Given the description of an element on the screen output the (x, y) to click on. 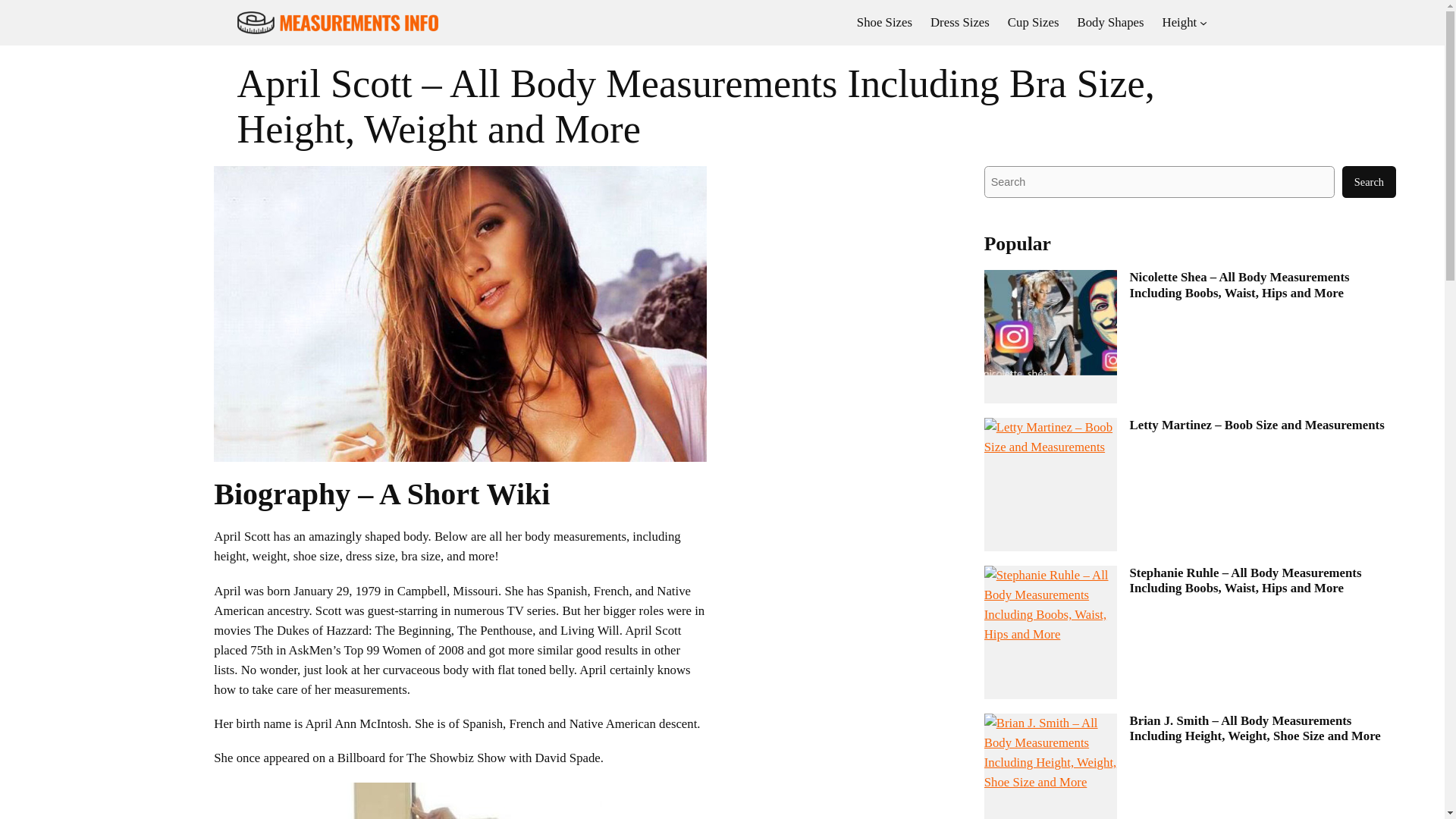
Height (1178, 22)
Body Shapes (1109, 22)
Cup Sizes (1033, 22)
Shoe Sizes (884, 22)
Dress Sizes (960, 22)
Search (1369, 182)
